Given the description of an element on the screen output the (x, y) to click on. 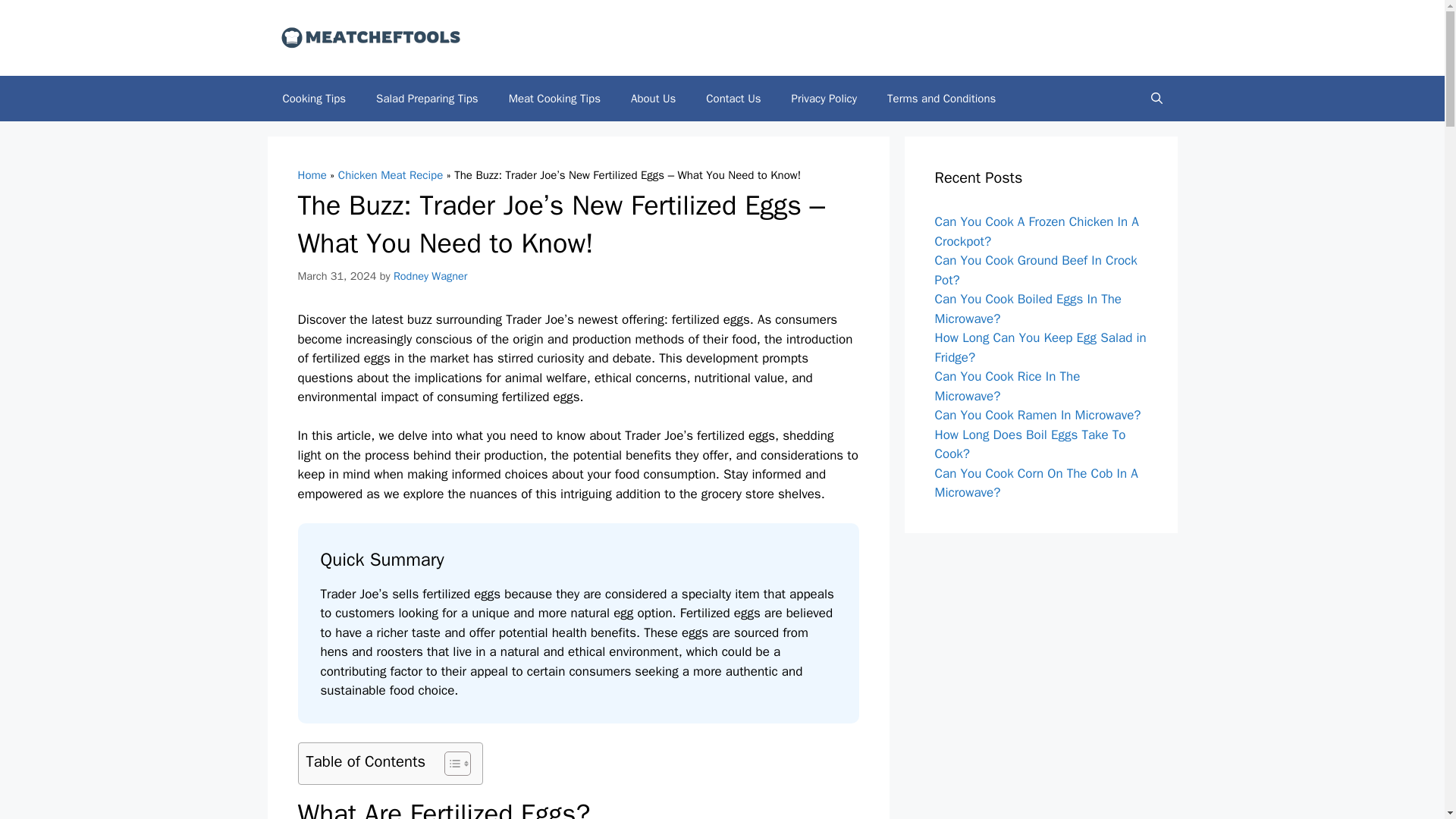
Meat Cooking Tips (554, 98)
How Long Does Boil Eggs Take To Cook? (1029, 443)
Cooking Tips (313, 98)
How Long Can You Keep Egg Salad in Fridge? (1039, 347)
Chicken Meat Recipe (389, 174)
Can You Cook Boiled Eggs In The Microwave? (1027, 308)
Rodney Wagner (430, 274)
Can You Cook A Frozen Chicken In A Crockpot? (1036, 231)
Privacy Policy (824, 98)
Terms and Conditions (941, 98)
About Us (652, 98)
Can You Cook Ramen In Microwave? (1037, 415)
Contact Us (733, 98)
Can You Cook Ground Beef In Crock Pot? (1035, 270)
Home (311, 174)
